Given the description of an element on the screen output the (x, y) to click on. 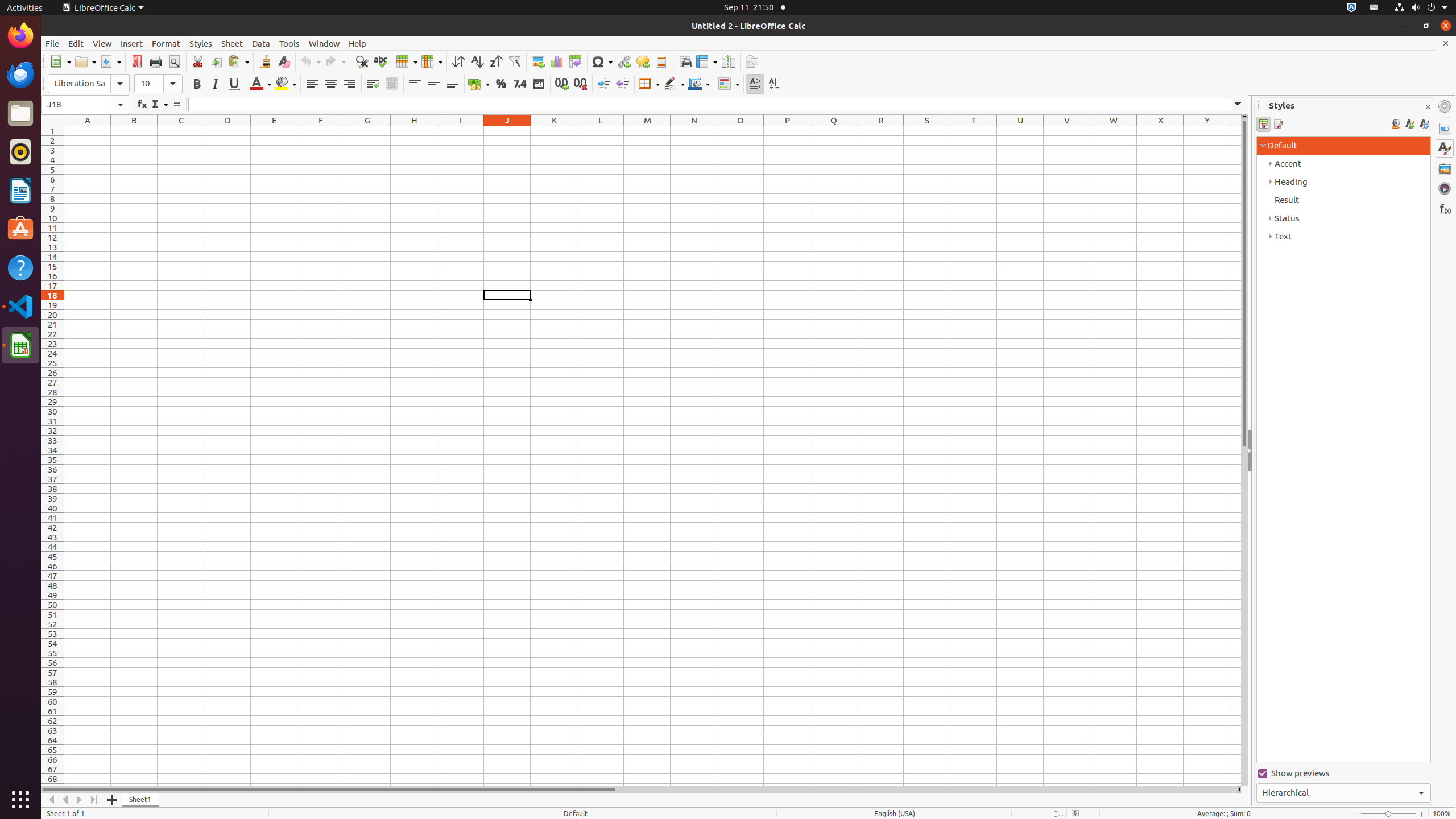
Background Color Element type: push-button (285, 83)
Window Element type: menu (324, 43)
Untitled 2 - LibreOffice Spreadsheets Element type: document-spreadsheet (652, 456)
Freeze Rows and Columns Element type: push-button (705, 61)
Q1 Element type: table-cell (833, 130)
